Given the description of an element on the screen output the (x, y) to click on. 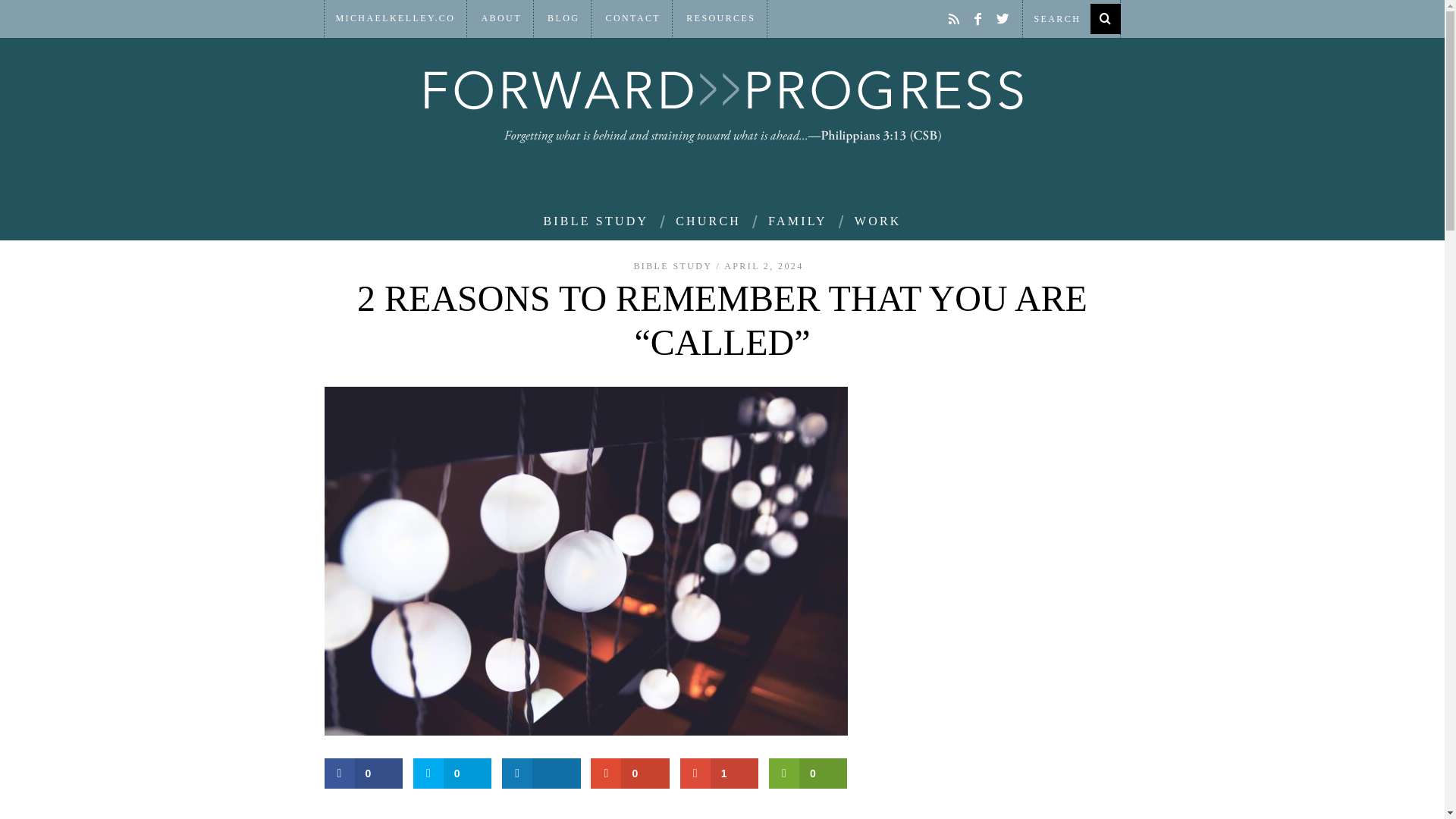
CONTACT (633, 18)
0 (630, 773)
MICHAELKELLEY.CO (395, 18)
BLOG (563, 18)
FAMILY (797, 221)
BIBLE STUDY (595, 221)
1 (718, 773)
CHURCH (707, 221)
Search (1071, 18)
BIBLE STUDY (672, 266)
0 (363, 773)
0 (452, 773)
RESOURCES (721, 18)
ABOUT (501, 18)
WORK (877, 221)
